Given the description of an element on the screen output the (x, y) to click on. 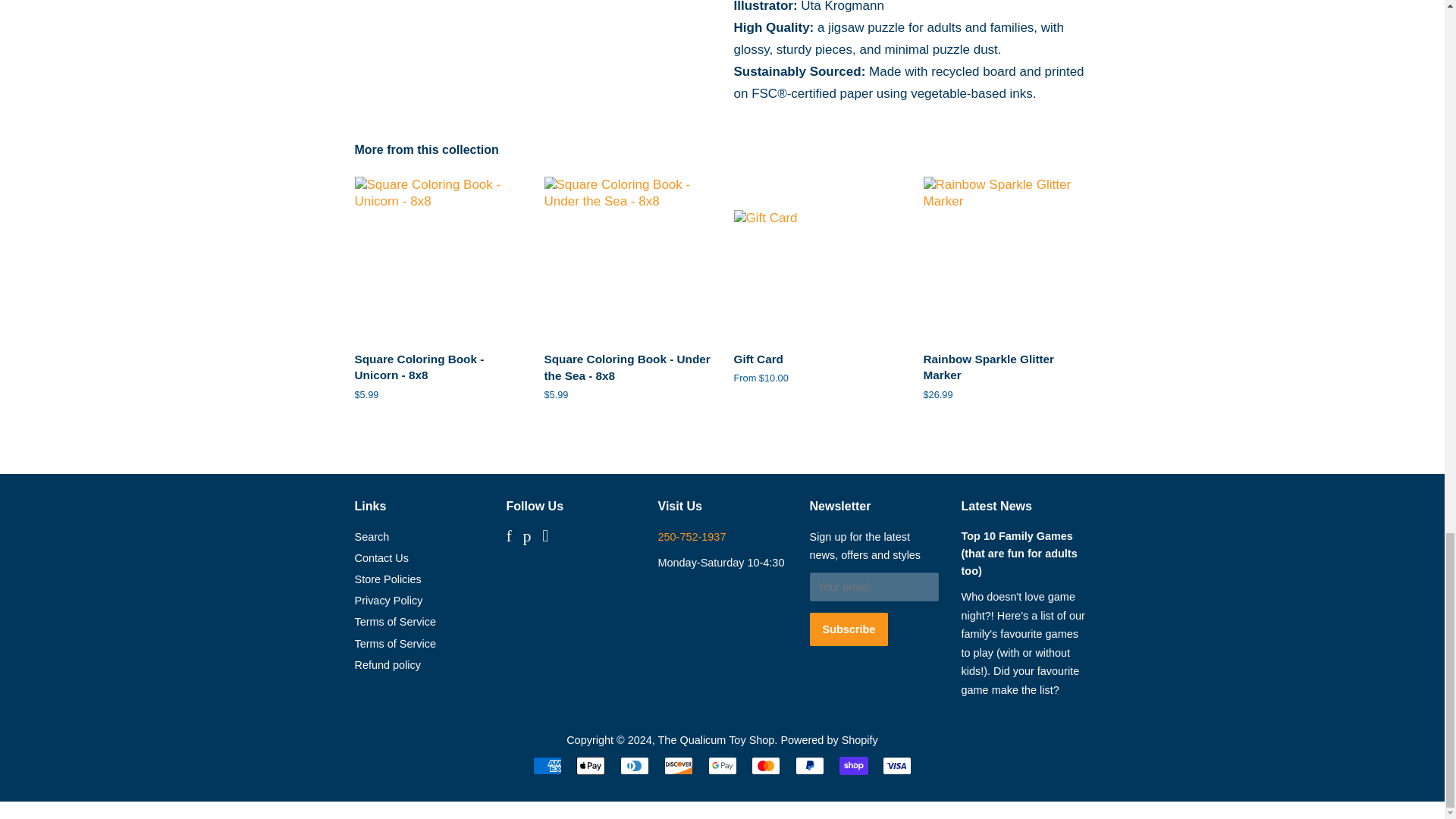
PayPal (809, 765)
Discover (678, 765)
American Express (547, 765)
Google Pay (721, 765)
Apple Pay (590, 765)
Shop Pay (853, 765)
Subscribe (848, 629)
Diners Club (634, 765)
Mastercard (765, 765)
Visa (896, 765)
